Given the description of an element on the screen output the (x, y) to click on. 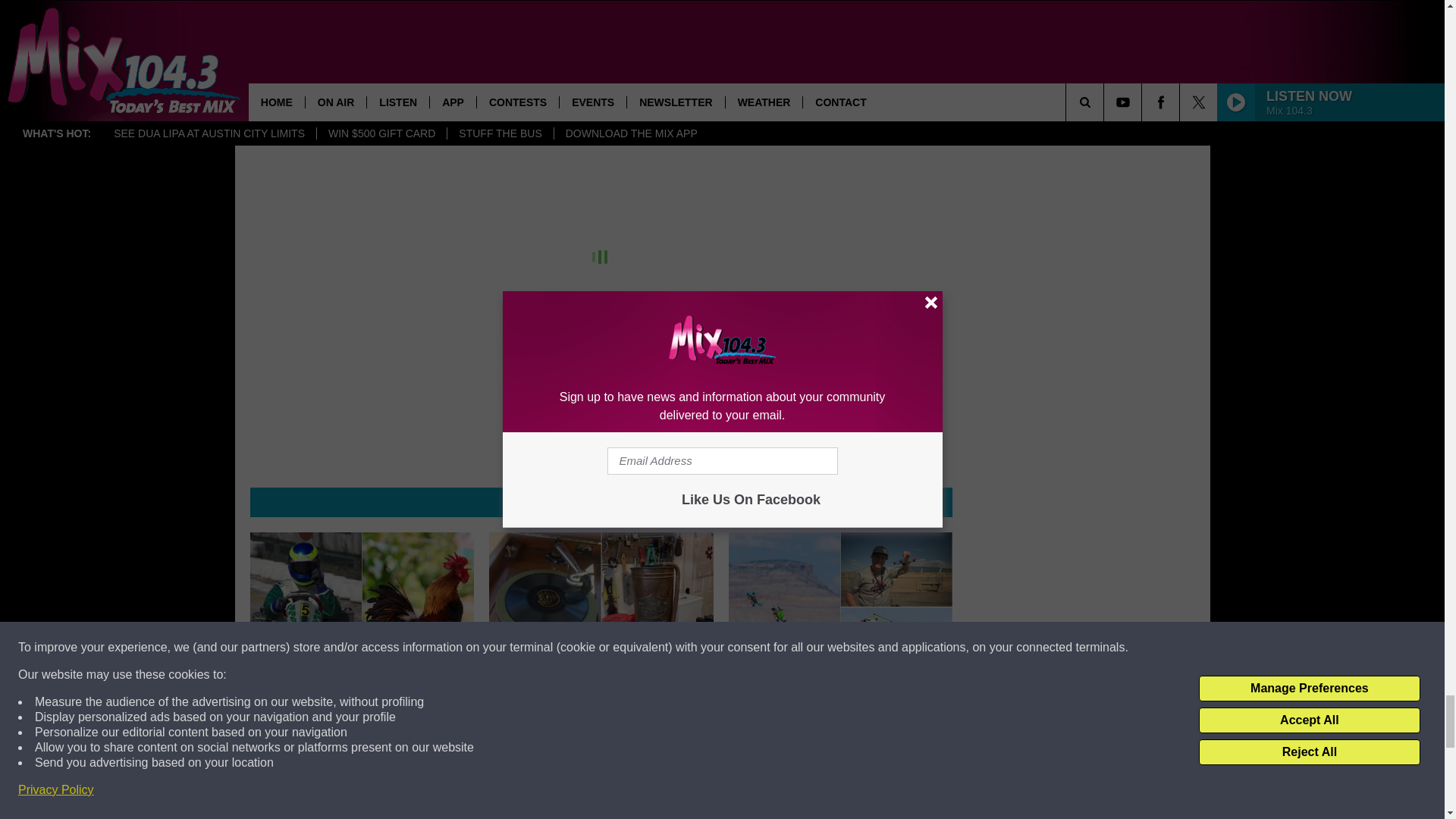
Email Address (600, 13)
